Given the description of an element on the screen output the (x, y) to click on. 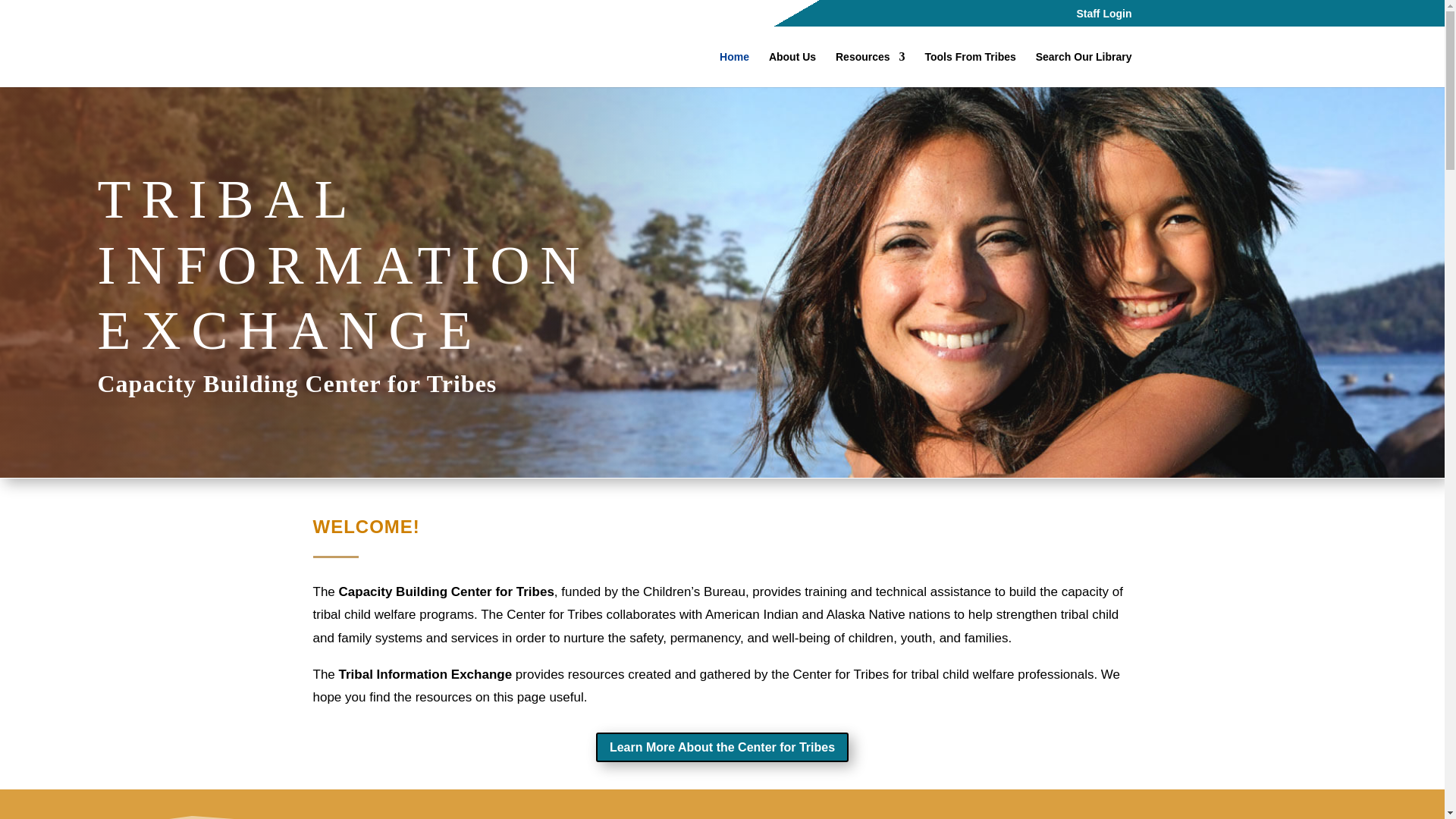
Search Our Library (1083, 68)
Staff Login (1103, 16)
Home (734, 68)
Resources (870, 68)
Tools From Tribes (969, 68)
About Us (791, 68)
Learn More About the Center for Tribes (721, 747)
